Given the description of an element on the screen output the (x, y) to click on. 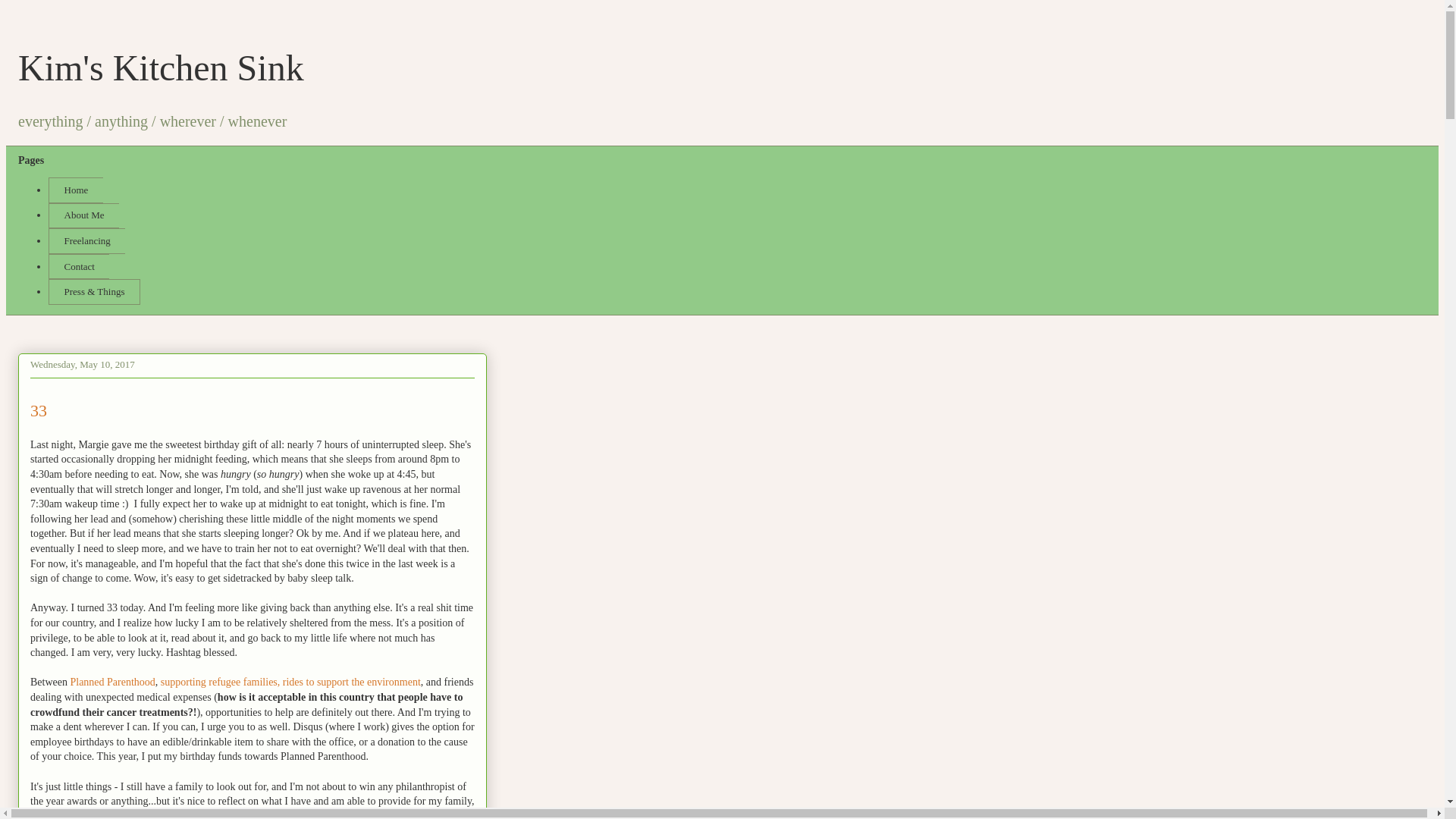
supporting refugee families, (219, 681)
Freelancing (86, 240)
Contact (78, 266)
Home (75, 190)
Planned Parenthood (111, 681)
Kim's Kitchen Sink (160, 67)
About Me (83, 216)
33 (38, 410)
rides to support the environment (351, 681)
